Given the description of an element on the screen output the (x, y) to click on. 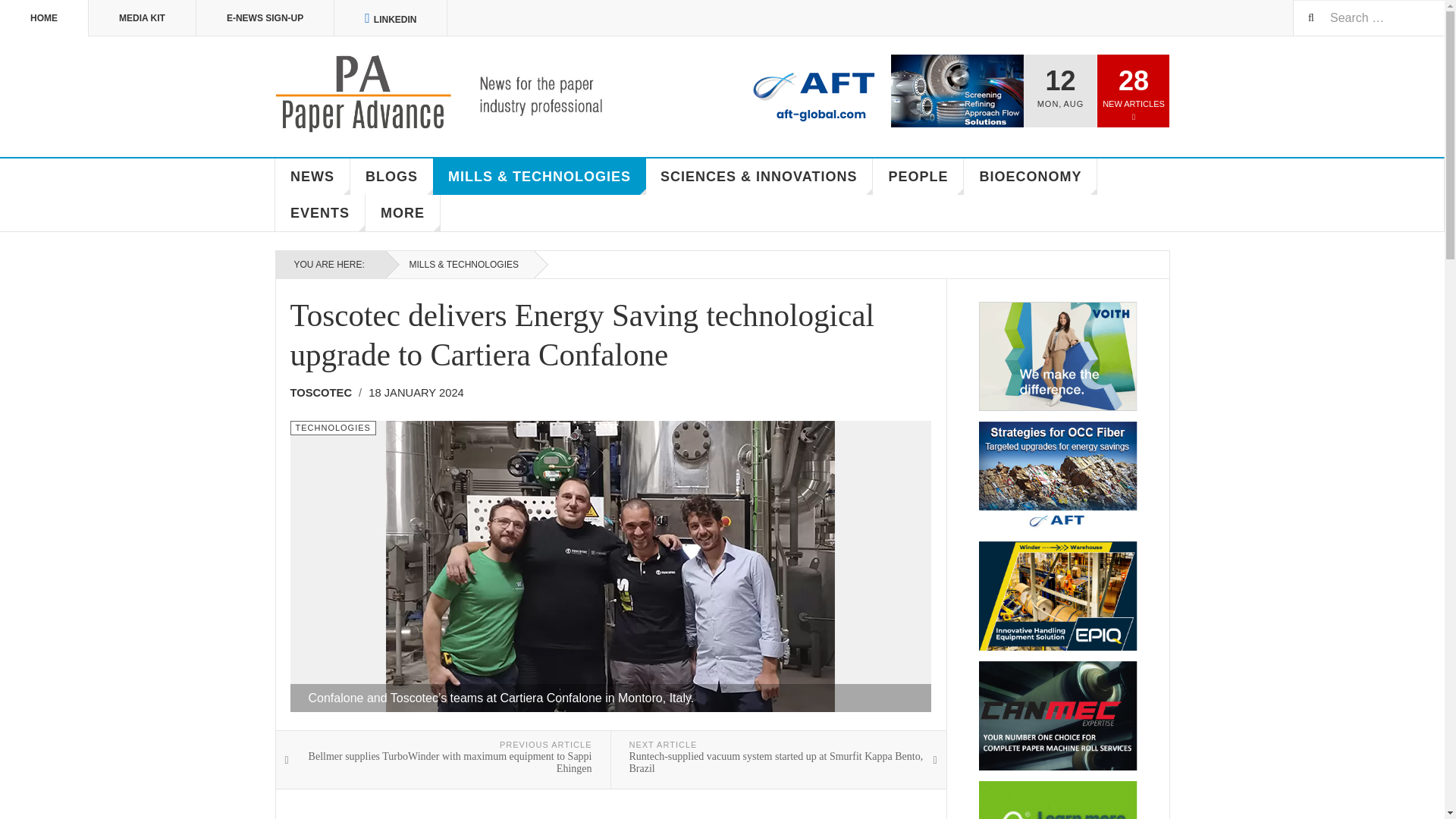
NEWS (312, 176)
LINKEDIN (390, 18)
MEDIA KIT (142, 18)
E-NEWS SIGN-UP (265, 18)
HOME (44, 18)
Paper Advance (461, 93)
